Given the description of an element on the screen output the (x, y) to click on. 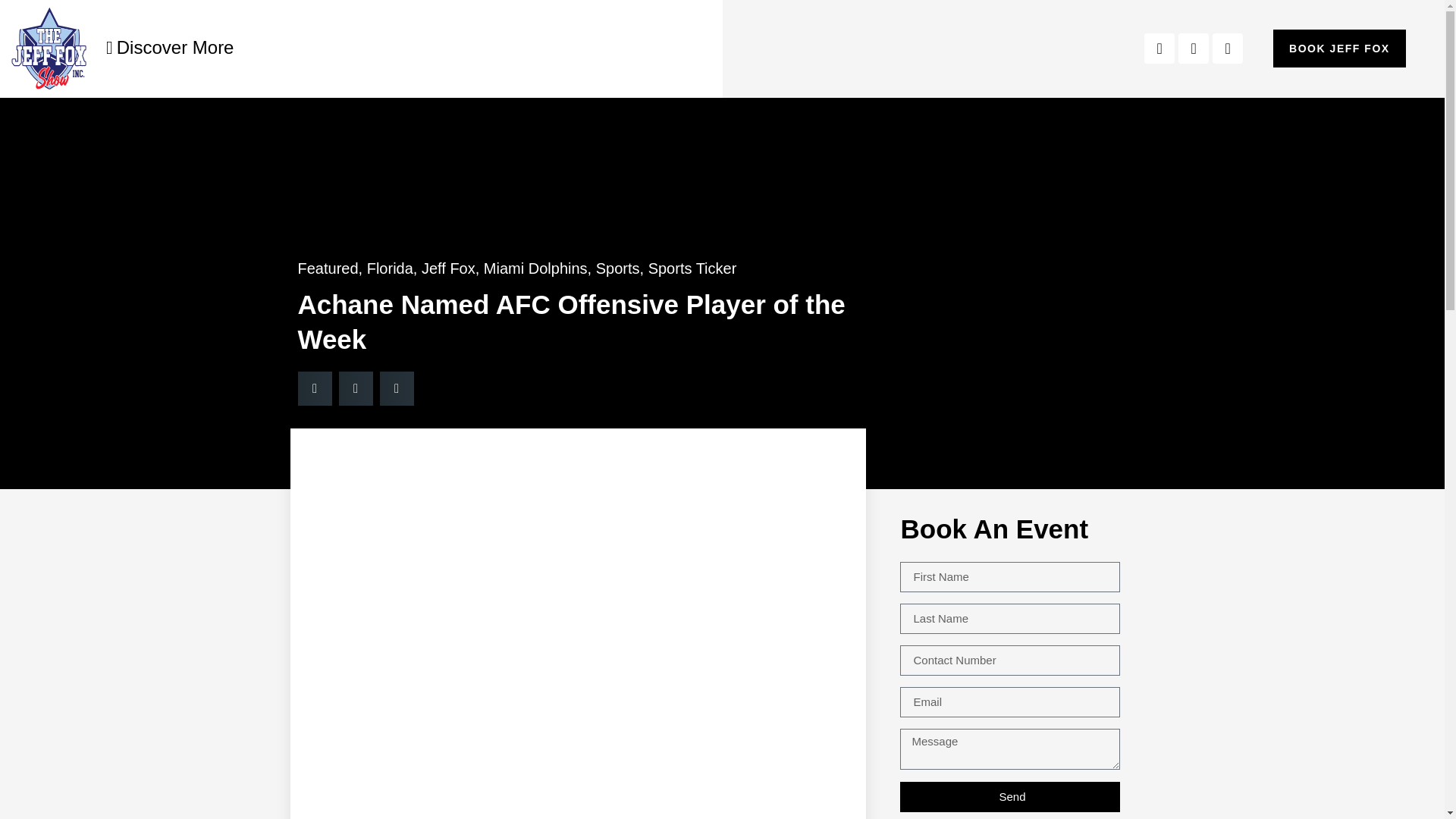
BOOK JEFF FOX (1339, 48)
Miami Dolphins (535, 268)
Sports Ticker (691, 268)
Featured (327, 268)
Discover More (169, 46)
Send (1009, 796)
Florida (389, 268)
Jeff Fox (449, 268)
Sports (617, 268)
